Given the description of an element on the screen output the (x, y) to click on. 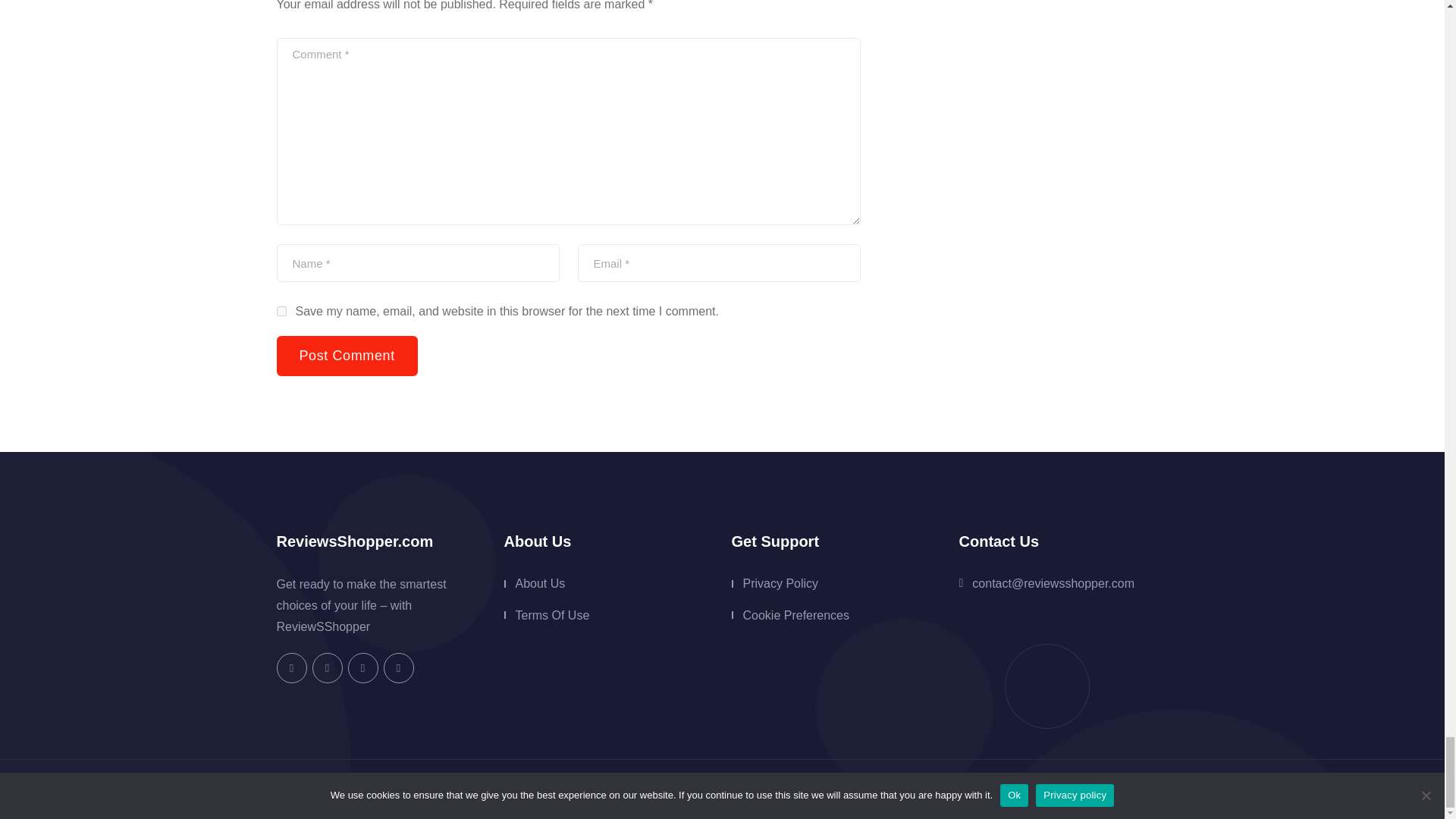
Post Comment (346, 355)
yes (280, 311)
